Given the description of an element on the screen output the (x, y) to click on. 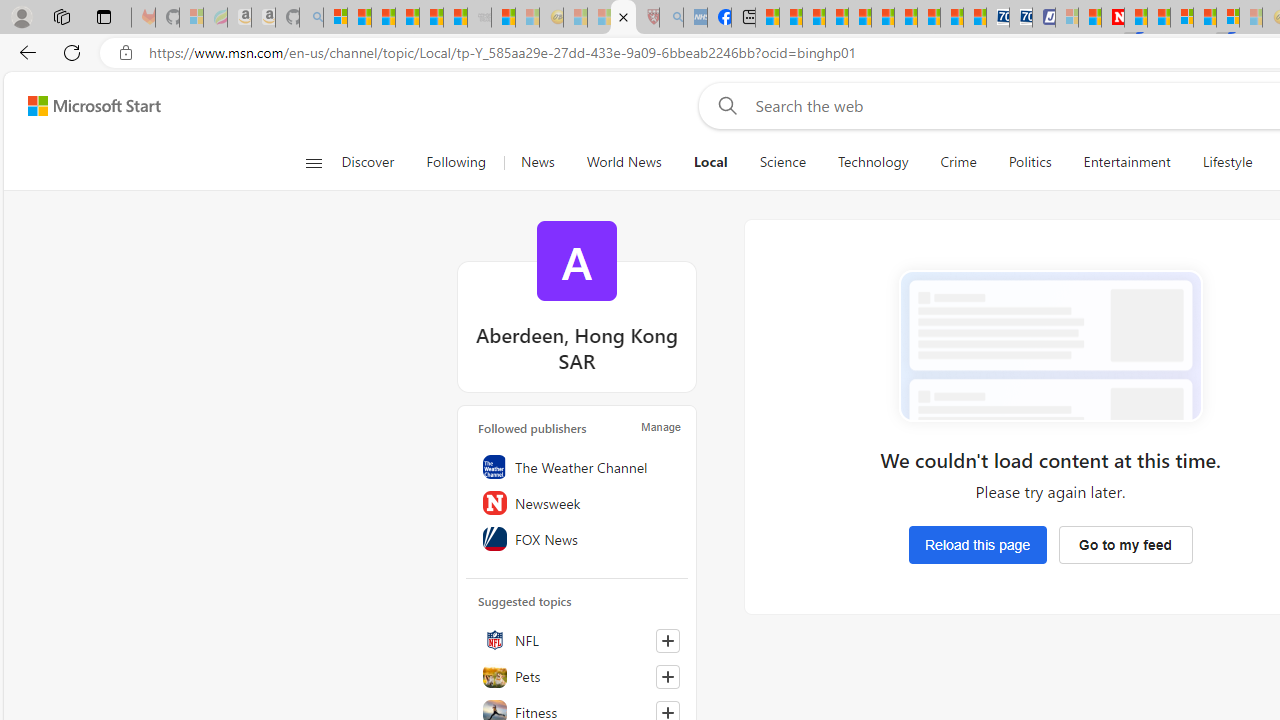
14 Common Myths Debunked By Scientific Facts (1158, 17)
The Weather Channel (577, 466)
Pets (577, 675)
Climate Damage Becomes Too Severe To Reverse (836, 17)
Reload this page (977, 544)
World - MSN (813, 17)
FOX News (577, 538)
